Given the description of an element on the screen output the (x, y) to click on. 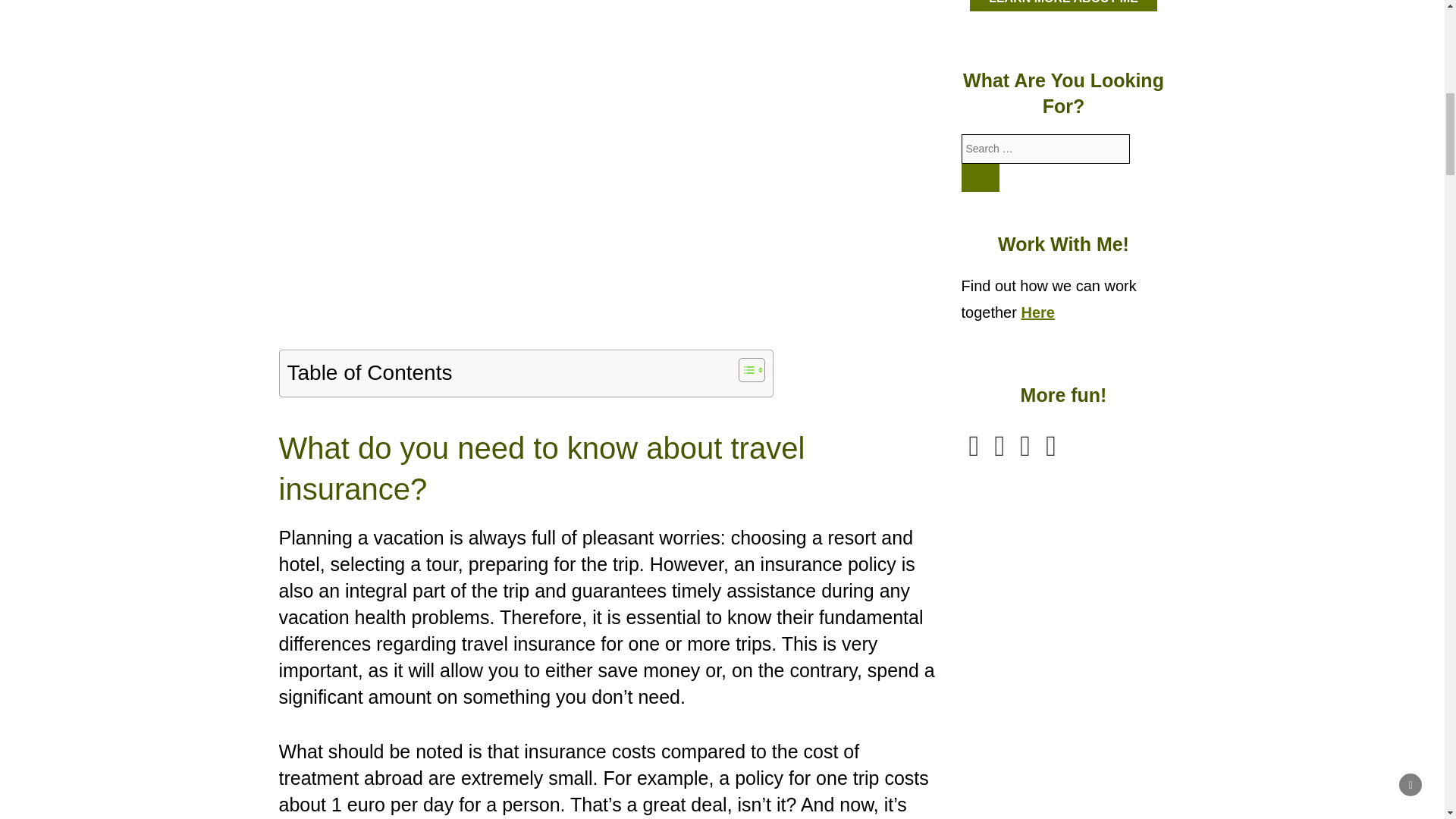
Search for: (1045, 148)
Search (980, 177)
Search (980, 177)
